Given the description of an element on the screen output the (x, y) to click on. 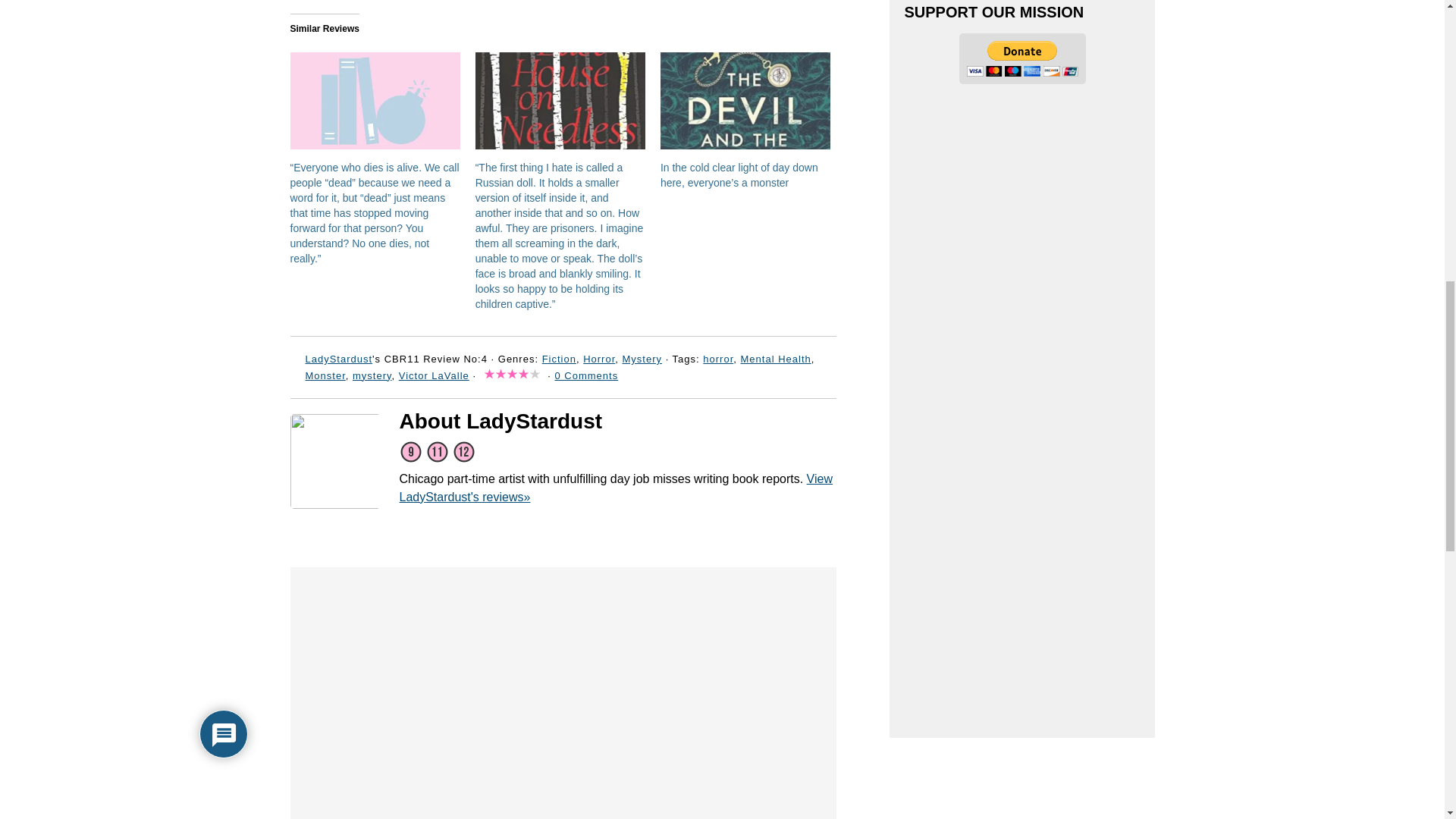
4 out of 5 stars (511, 375)
